Given the description of an element on the screen output the (x, y) to click on. 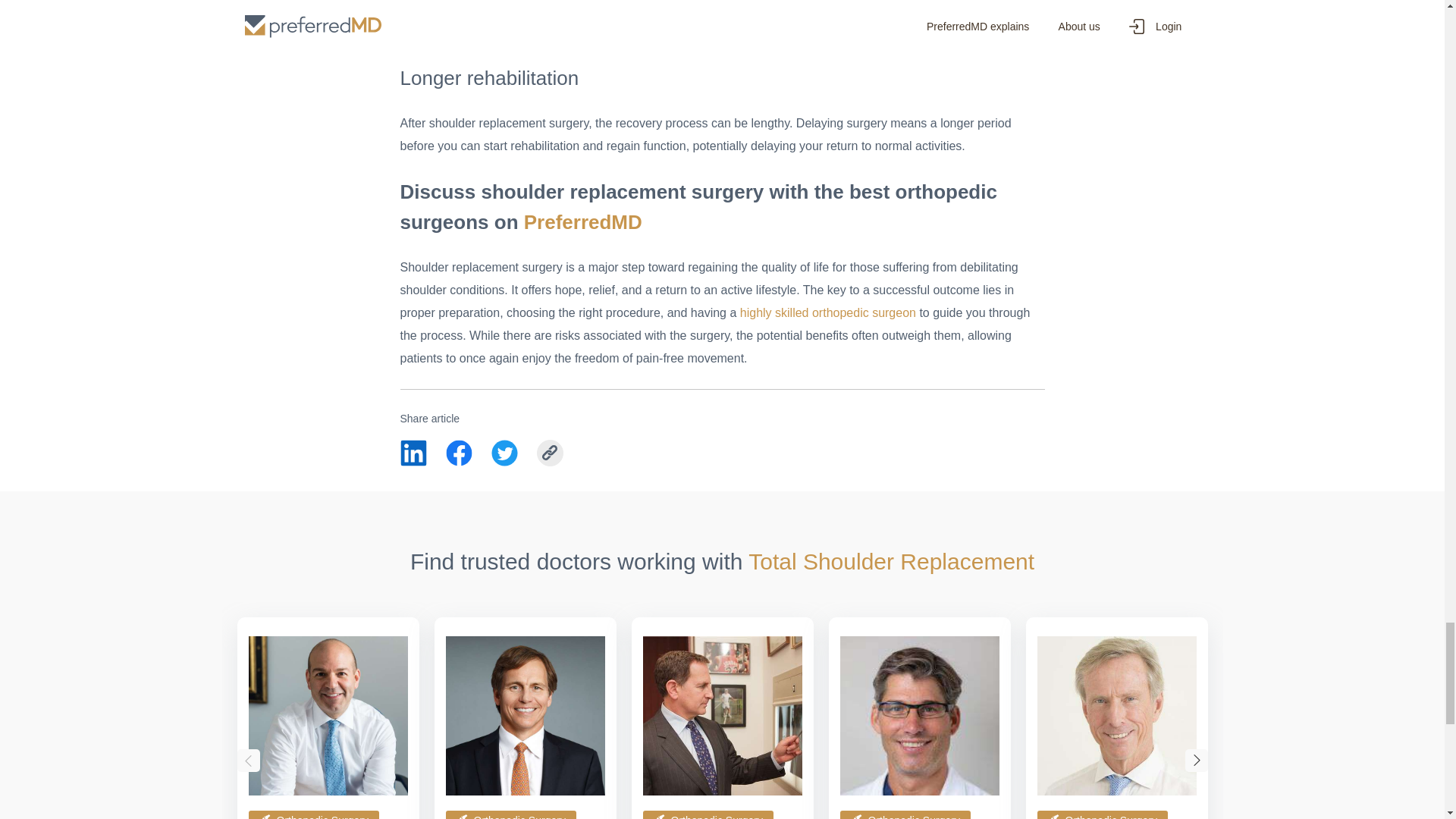
Orthopedic Surgery (905, 814)
highly skilled orthopedic surgeon (825, 312)
Orthopedic Surgery (708, 814)
Previous (247, 760)
Orthopedic Surgery (1101, 814)
Orthopedic Surgery (313, 814)
Orthopedic Surgery (510, 814)
